Given the description of an element on the screen output the (x, y) to click on. 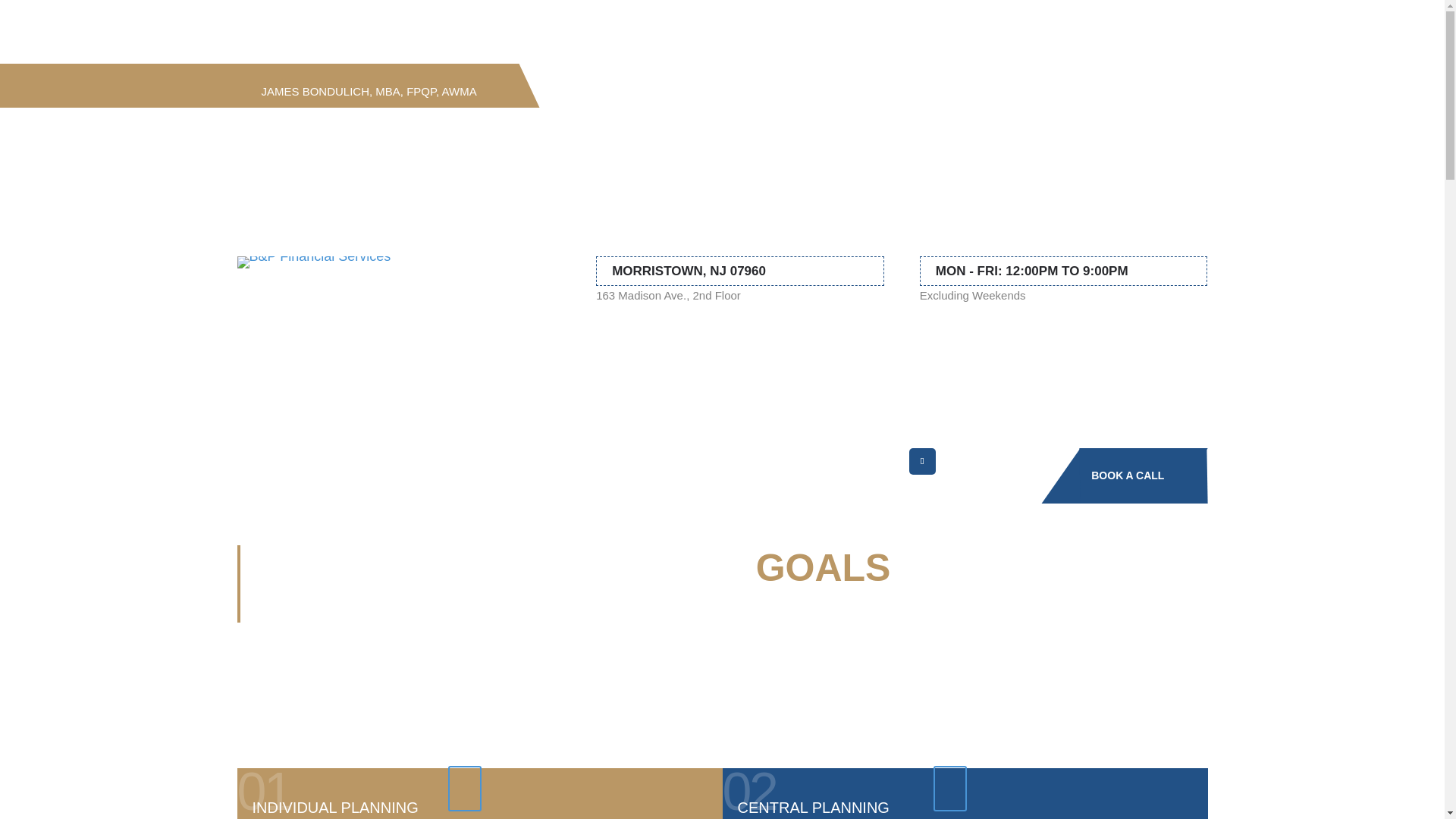
BOOK A CALL (1143, 475)
SERVICES (338, 612)
NEWSLETTER (625, 462)
HOME (274, 612)
Follow on Facebook (922, 461)
MY SERVICES (477, 462)
CONTACT (709, 462)
HOME (324, 462)
ABOUT ME (391, 462)
FAQS (551, 462)
